Given the description of an element on the screen output the (x, y) to click on. 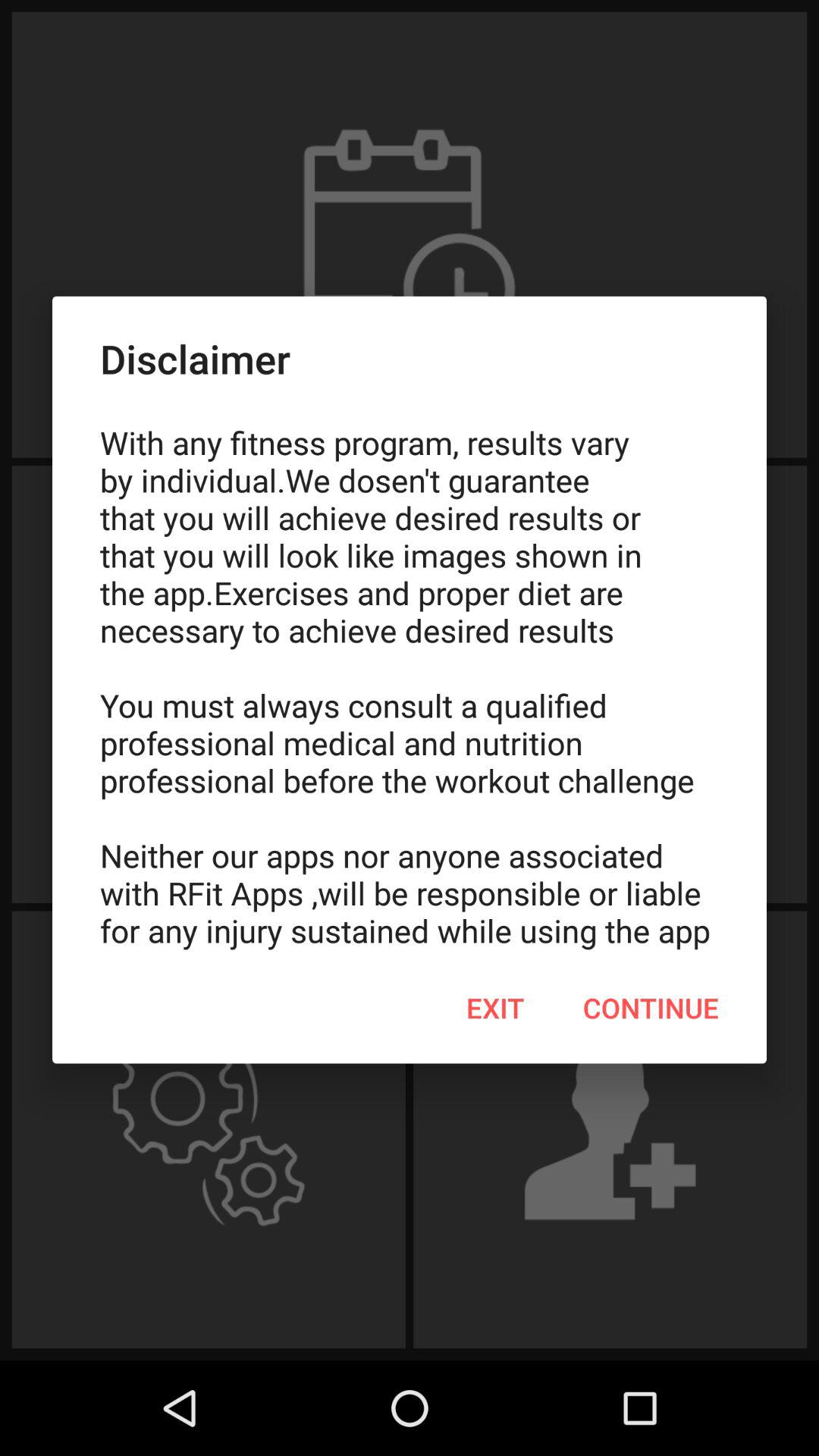
open item next to continue item (495, 1007)
